Given the description of an element on the screen output the (x, y) to click on. 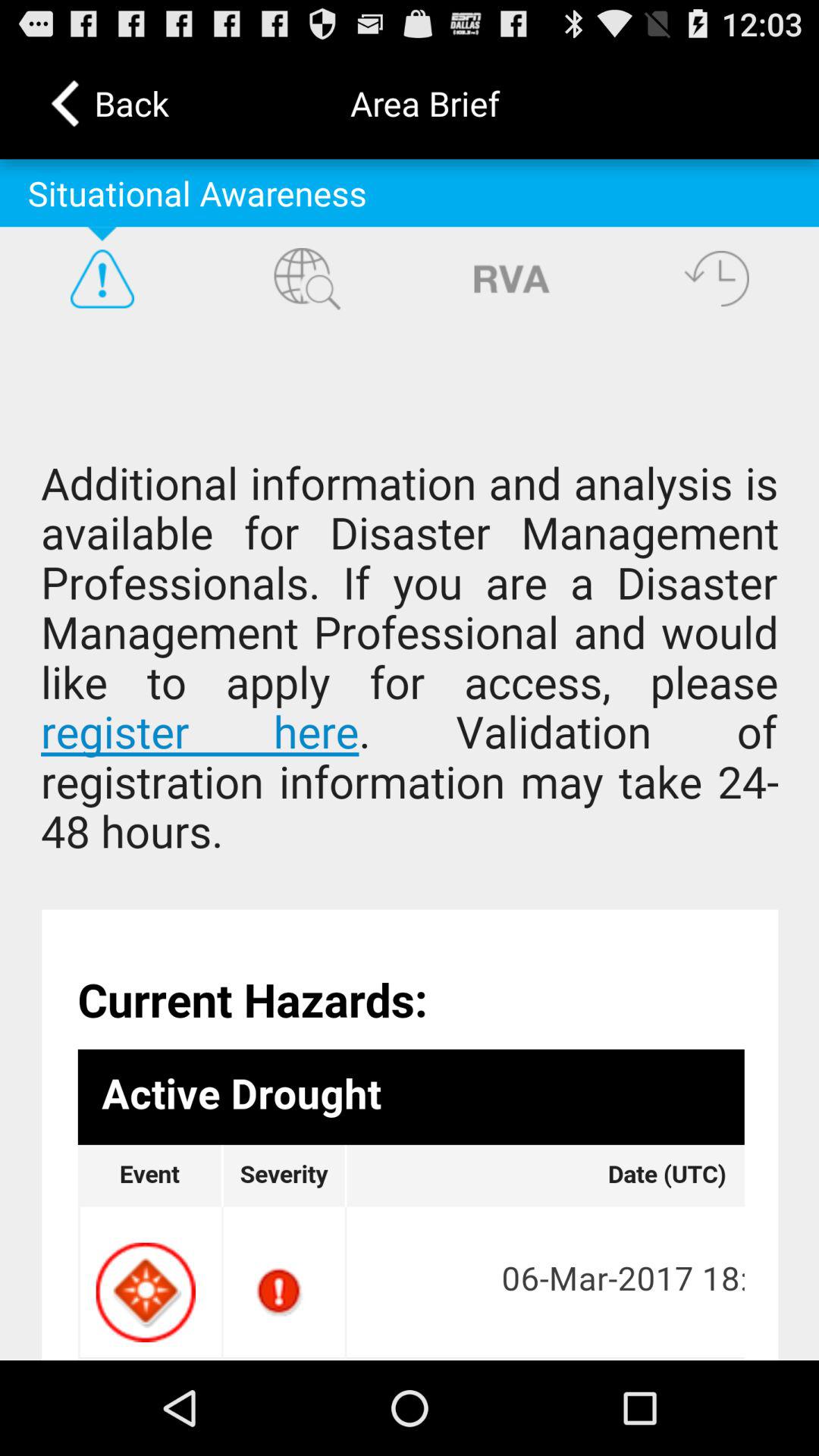
go back (716, 278)
